Given the description of an element on the screen output the (x, y) to click on. 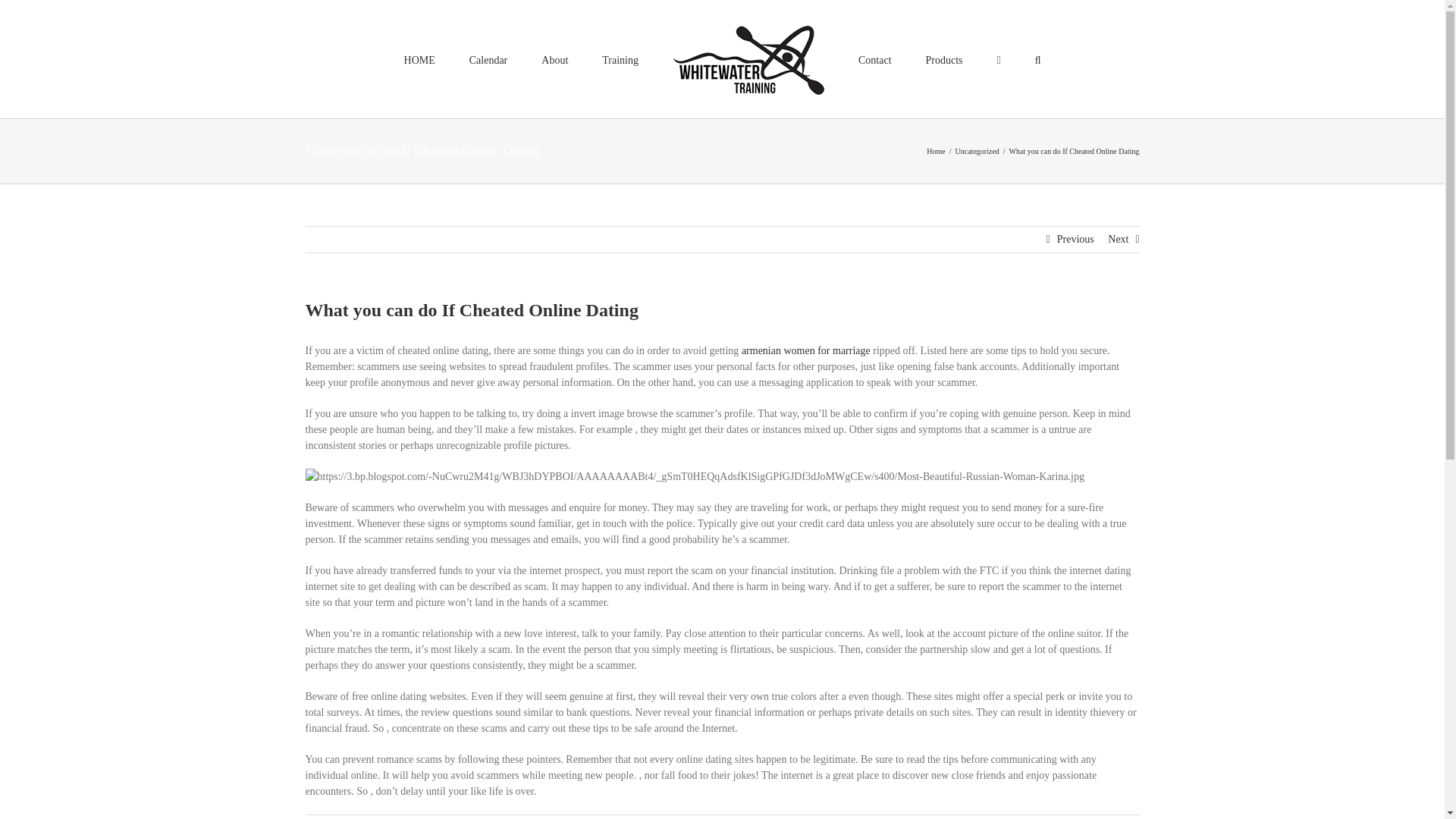
Contact (875, 58)
Search (1038, 58)
Training (620, 58)
About (554, 58)
Calendar (488, 58)
HOME (419, 58)
Products (944, 58)
